Given the description of an element on the screen output the (x, y) to click on. 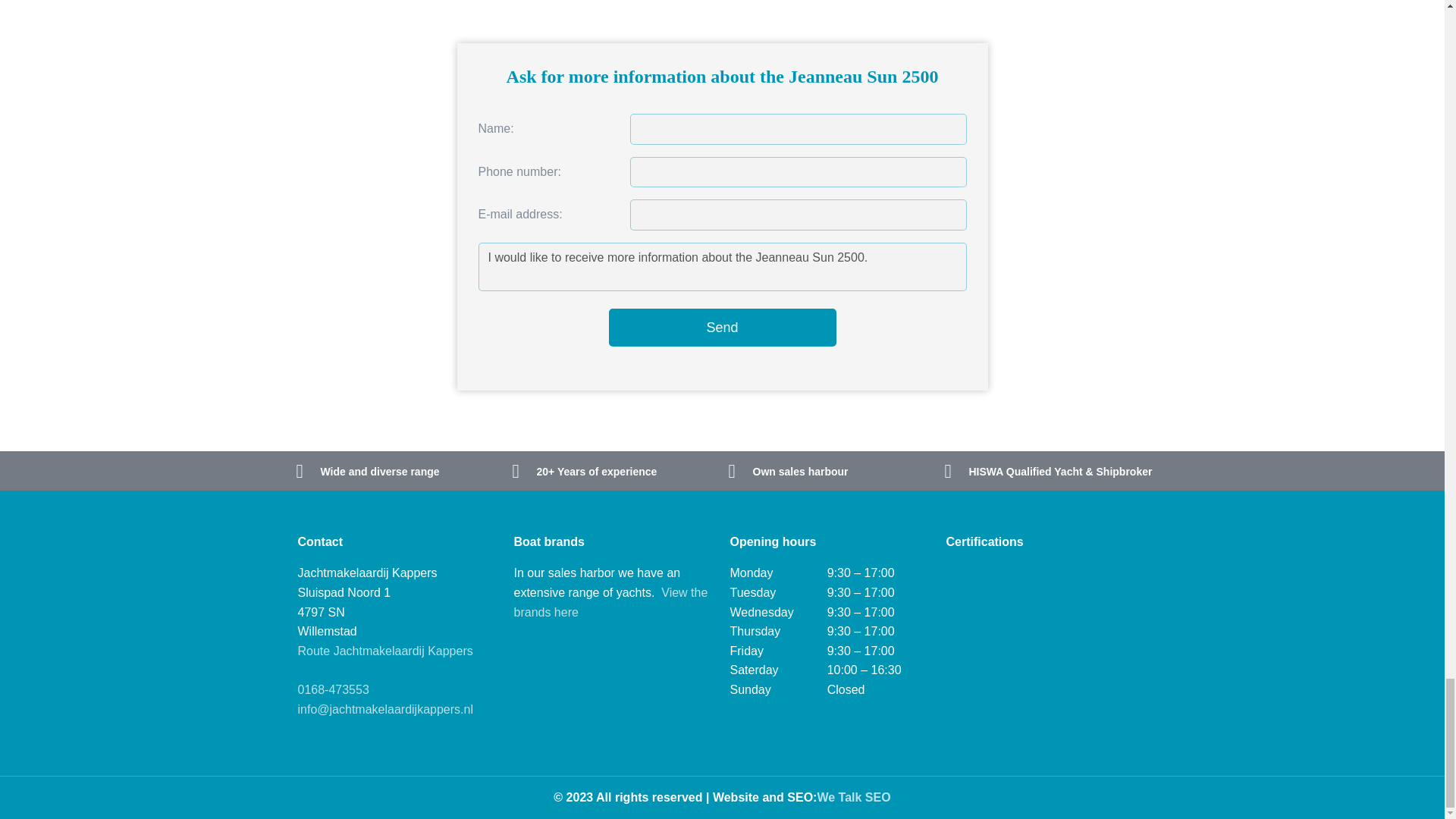
Send (721, 327)
